Given the description of an element on the screen output the (x, y) to click on. 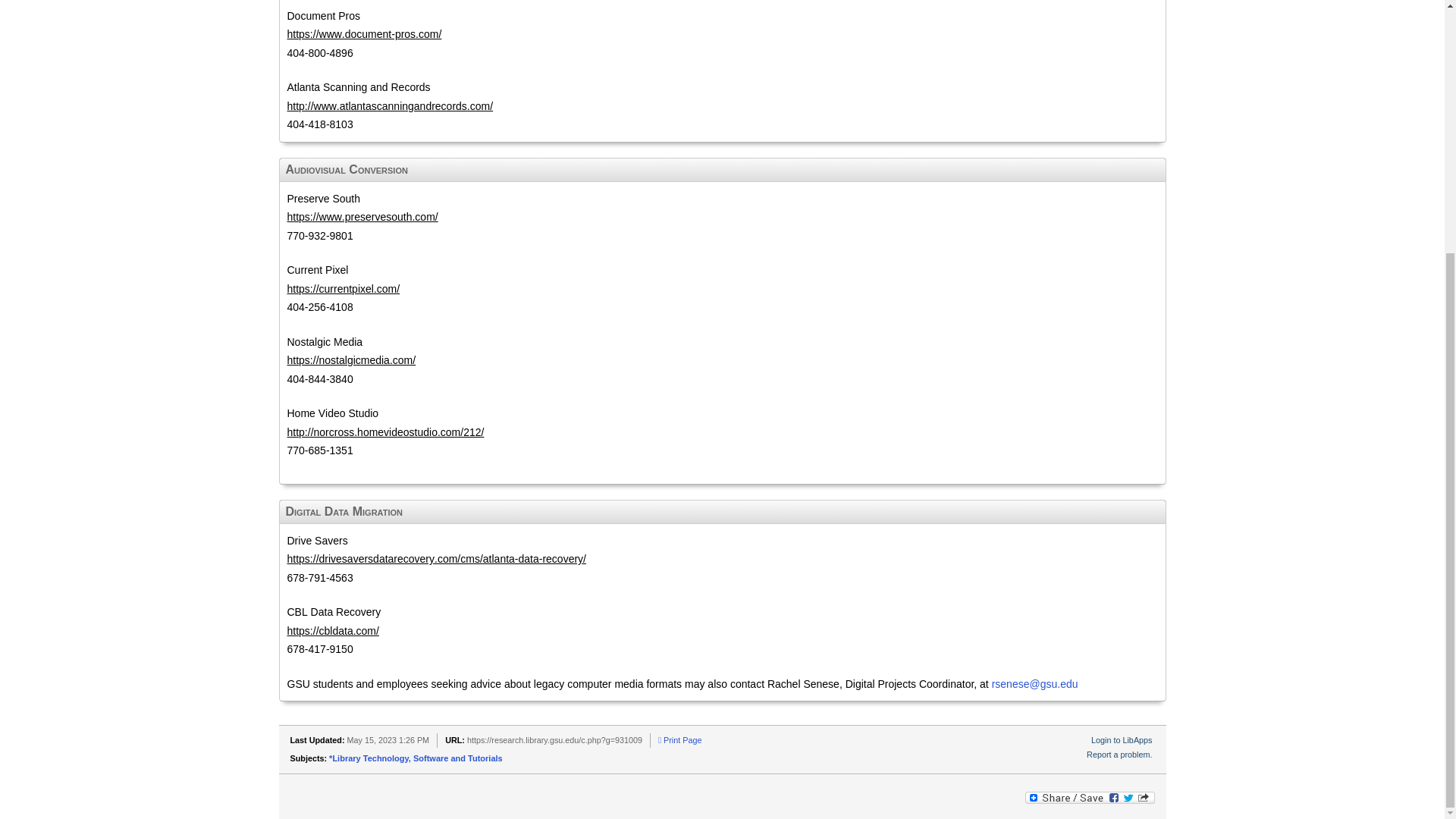
Print Page (679, 739)
Report a problem. (1118, 754)
Login to LibApps (1120, 739)
